Given the description of an element on the screen output the (x, y) to click on. 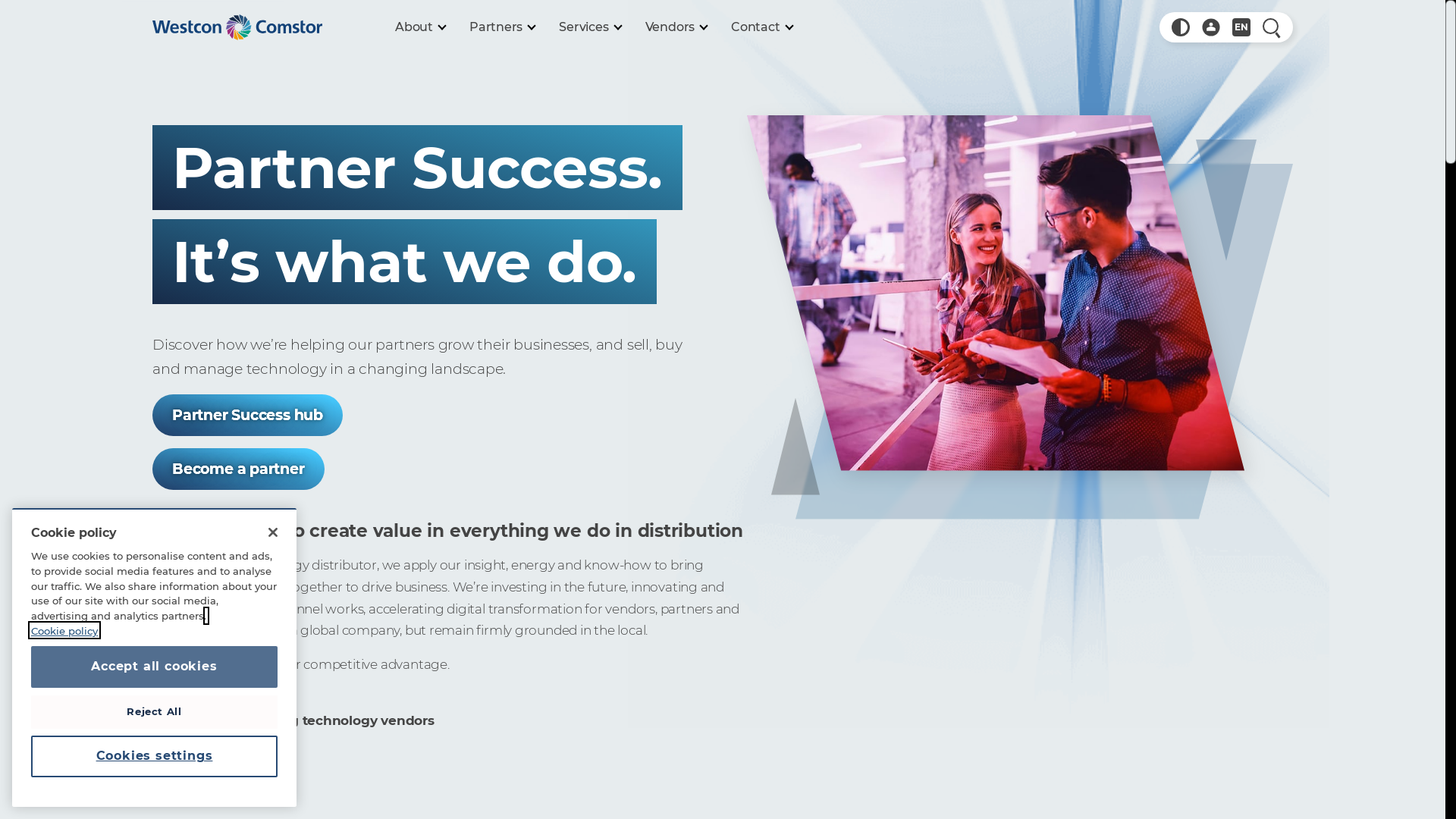
About Element type: text (420, 27)
Services Element type: text (589, 27)
Partners Element type: text (501, 27)
Partner Success hub Element type: text (247, 415)
Become a partner Element type: text (238, 468)
Reject All Element type: text (154, 711)
Cookie policy Element type: text (118, 637)
PartnerCentral Element type: text (1210, 27)
Accept all cookies Element type: text (154, 666)
Contact Element type: text (761, 27)
Vendors Element type: text (676, 27)
Cookies settings Element type: text (154, 755)
